Given the description of an element on the screen output the (x, y) to click on. 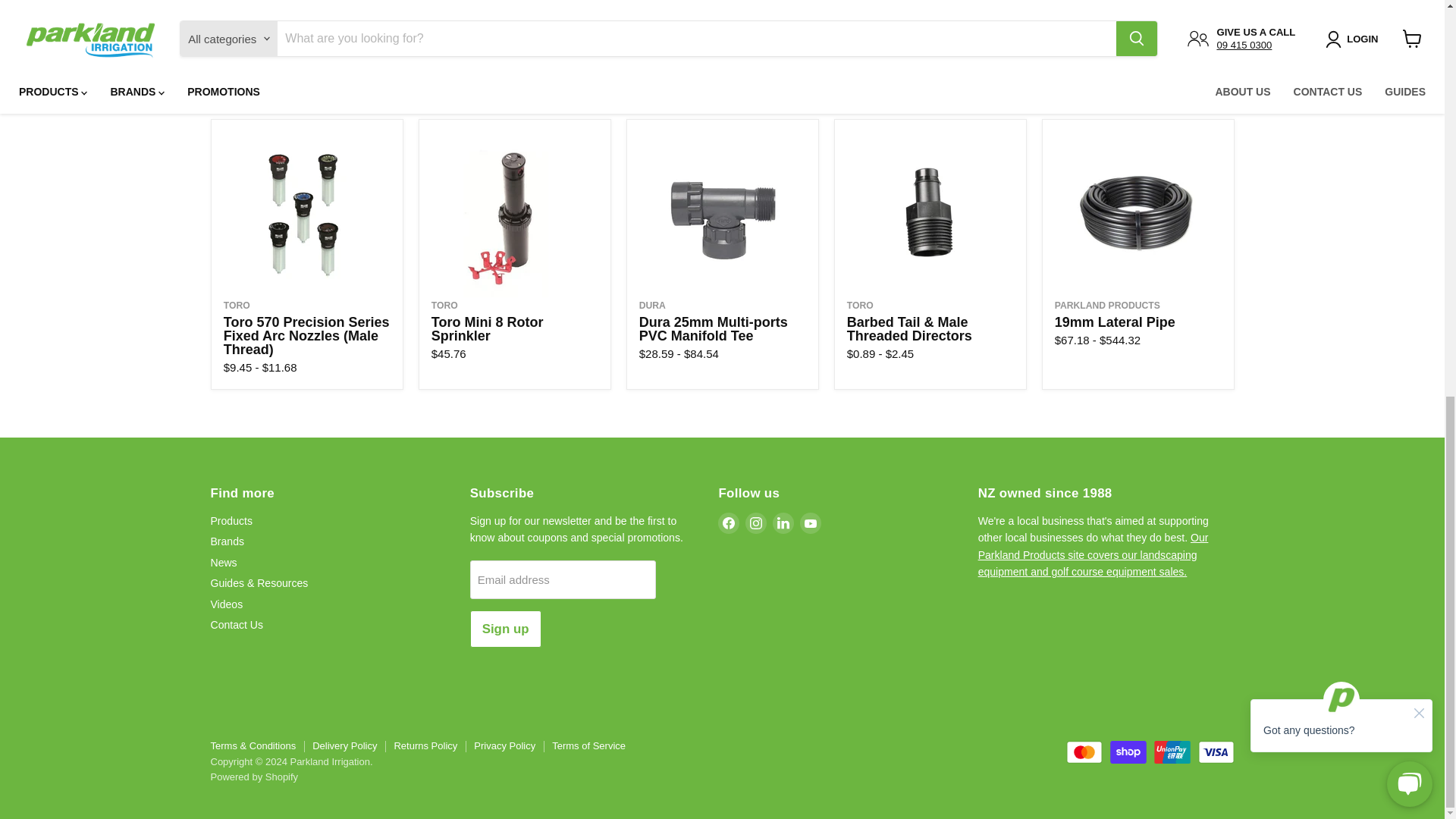
LinkedIn (783, 522)
Toro (860, 305)
Facebook (728, 522)
YouTube (810, 522)
Dura (652, 305)
Instagram (756, 522)
Toro (444, 305)
Parkland Products (1107, 305)
Toro (237, 305)
